Given the description of an element on the screen output the (x, y) to click on. 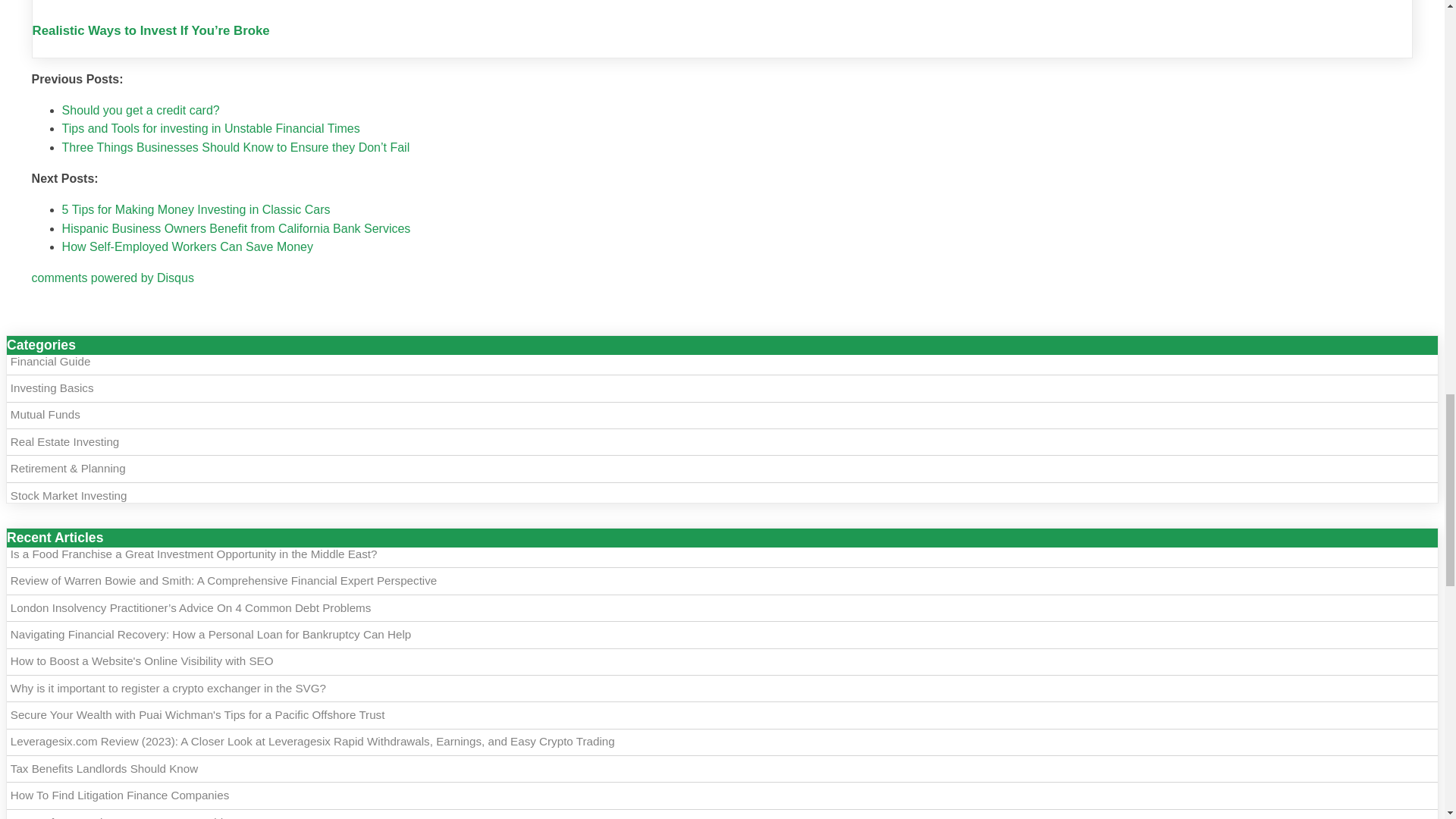
Tips and Tools for investing in Unstable Financial Times (210, 128)
comments powered by Disqus (112, 277)
Investing Basics (52, 387)
Real Estate Investing (64, 440)
Stock Market Investing (69, 495)
How Self-Employed Workers Can Save Money (187, 246)
5 Tips for Making Money Investing in Classic Cars (196, 209)
Mutual Funds (45, 413)
How to Boost a Website's Online Visibility with SEO (141, 660)
Should you get a credit card? (140, 110)
